Given the description of an element on the screen output the (x, y) to click on. 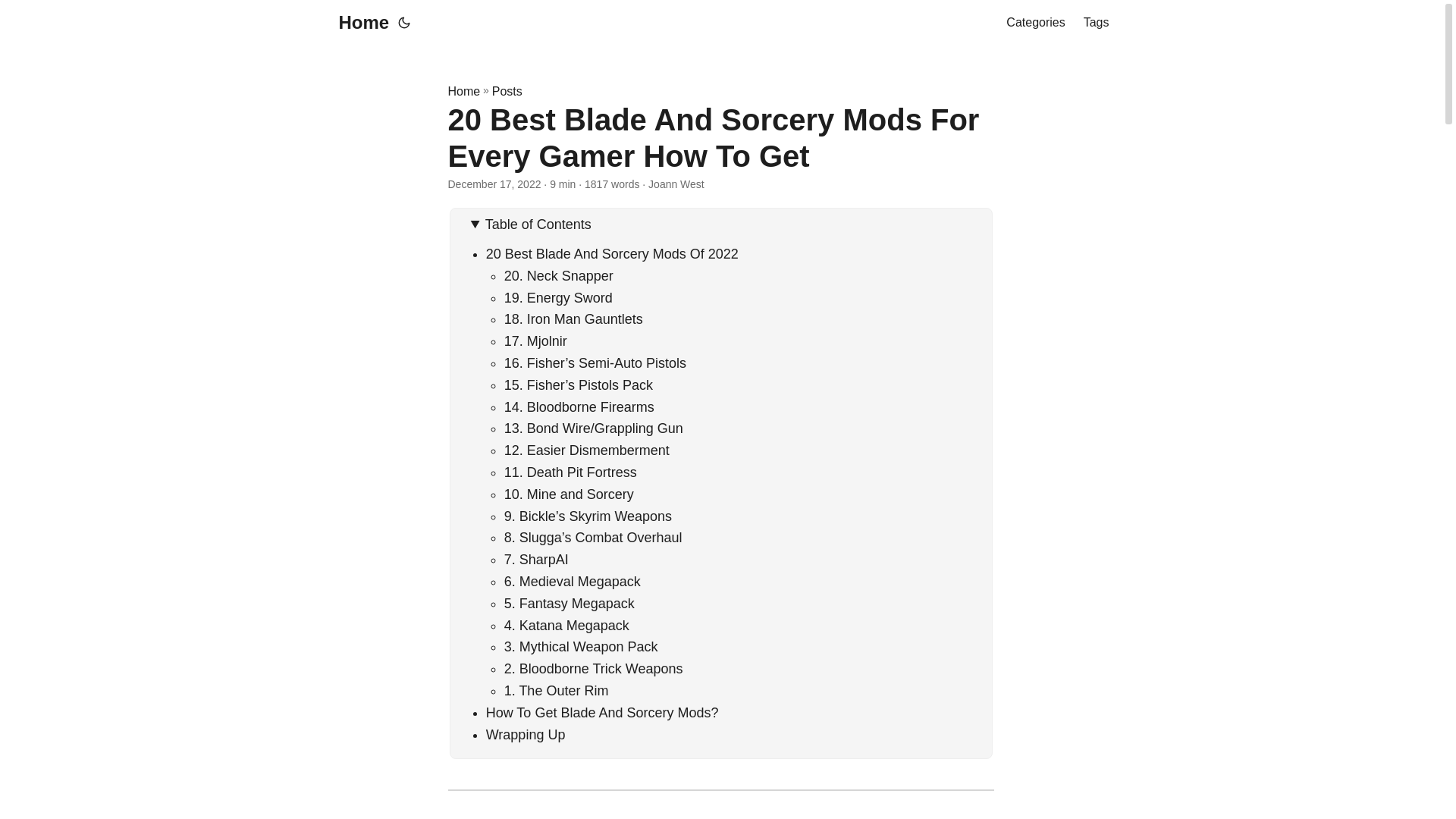
11. Death Pit Fortress (570, 472)
Tags (1096, 22)
4. Katana Megapack (565, 625)
3. Mythical Weapon Pack (580, 646)
5. Fantasy Megapack (568, 603)
Tags (1096, 22)
How To Get Blade And Sorcery Mods? (602, 712)
7. SharpAI (536, 559)
17. Mjolnir (535, 340)
6. Medieval Megapack (571, 581)
Wrapping Up (526, 734)
2. Bloodborne Trick Weapons (592, 668)
10. Mine and Sorcery (568, 494)
Categories (1035, 22)
Posts (507, 91)
